Given the description of an element on the screen output the (x, y) to click on. 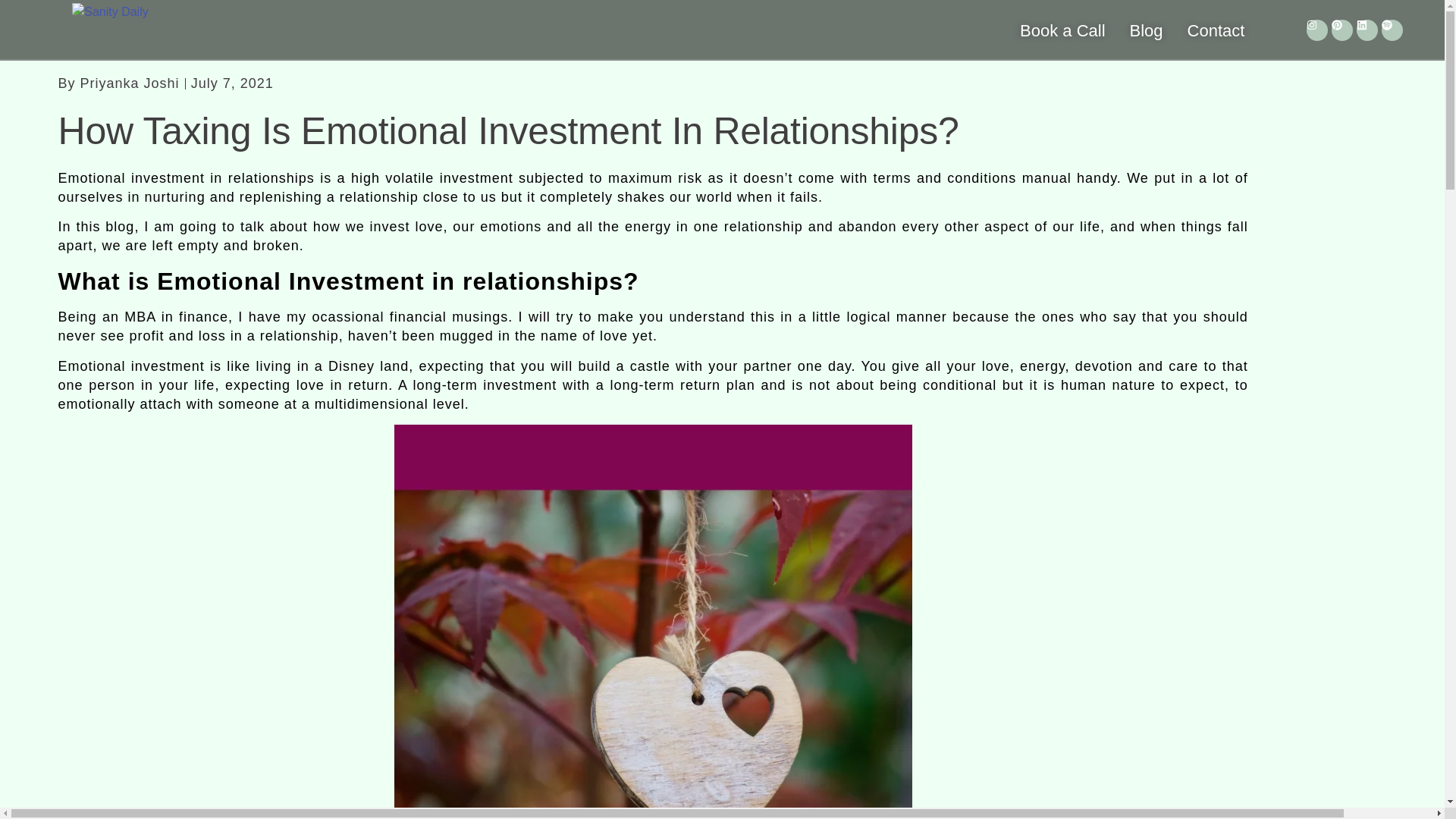
Book a Call (1062, 30)
Blog (1146, 30)
Contact (1216, 30)
